Given the description of an element on the screen output the (x, y) to click on. 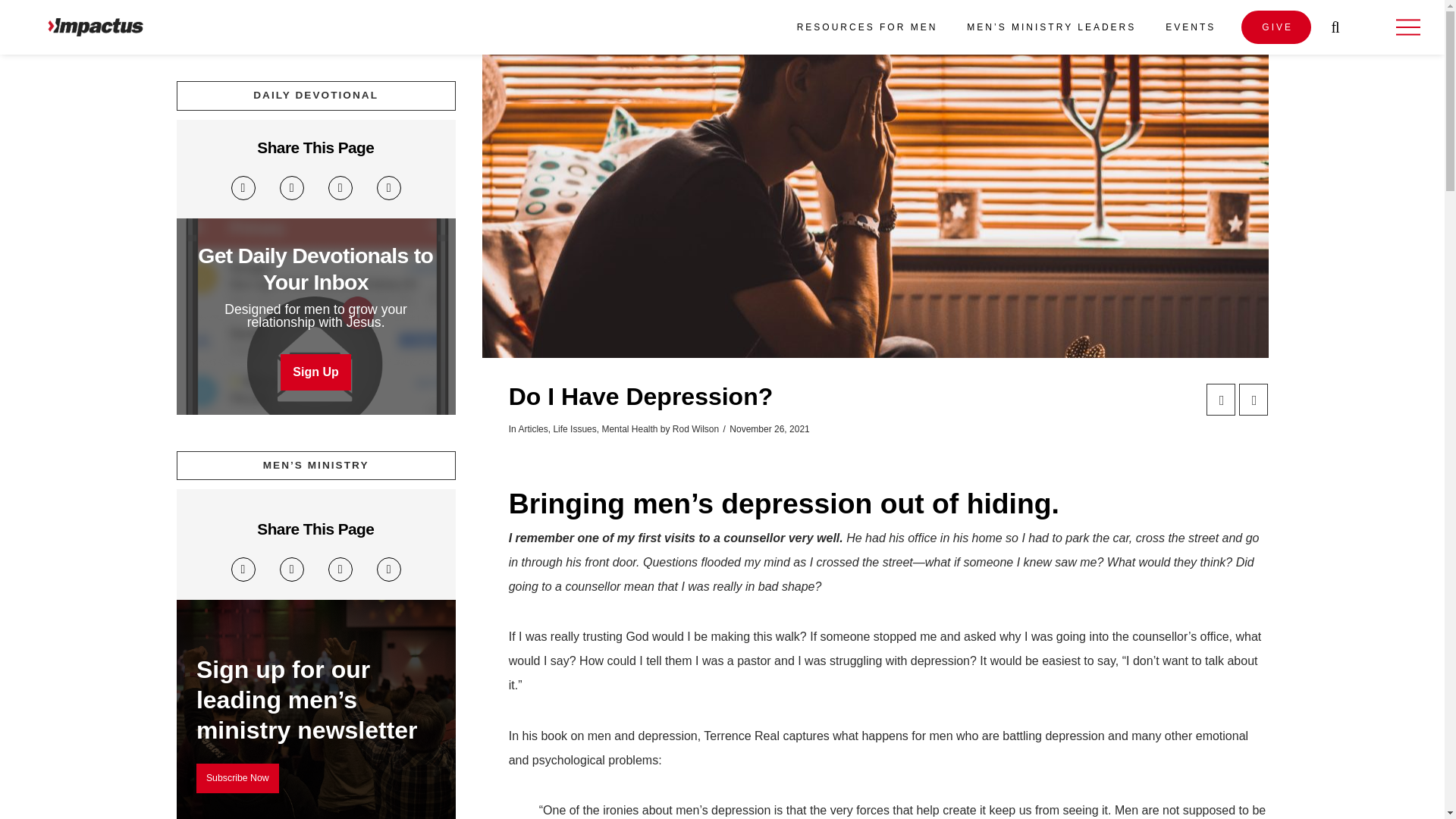
Mental Health (629, 429)
Articles (532, 429)
EVENTS (1189, 27)
Rod Wilson (695, 429)
Life Issues (574, 429)
RESOURCES FOR MEN (866, 27)
GIVE (1276, 27)
